Given the description of an element on the screen output the (x, y) to click on. 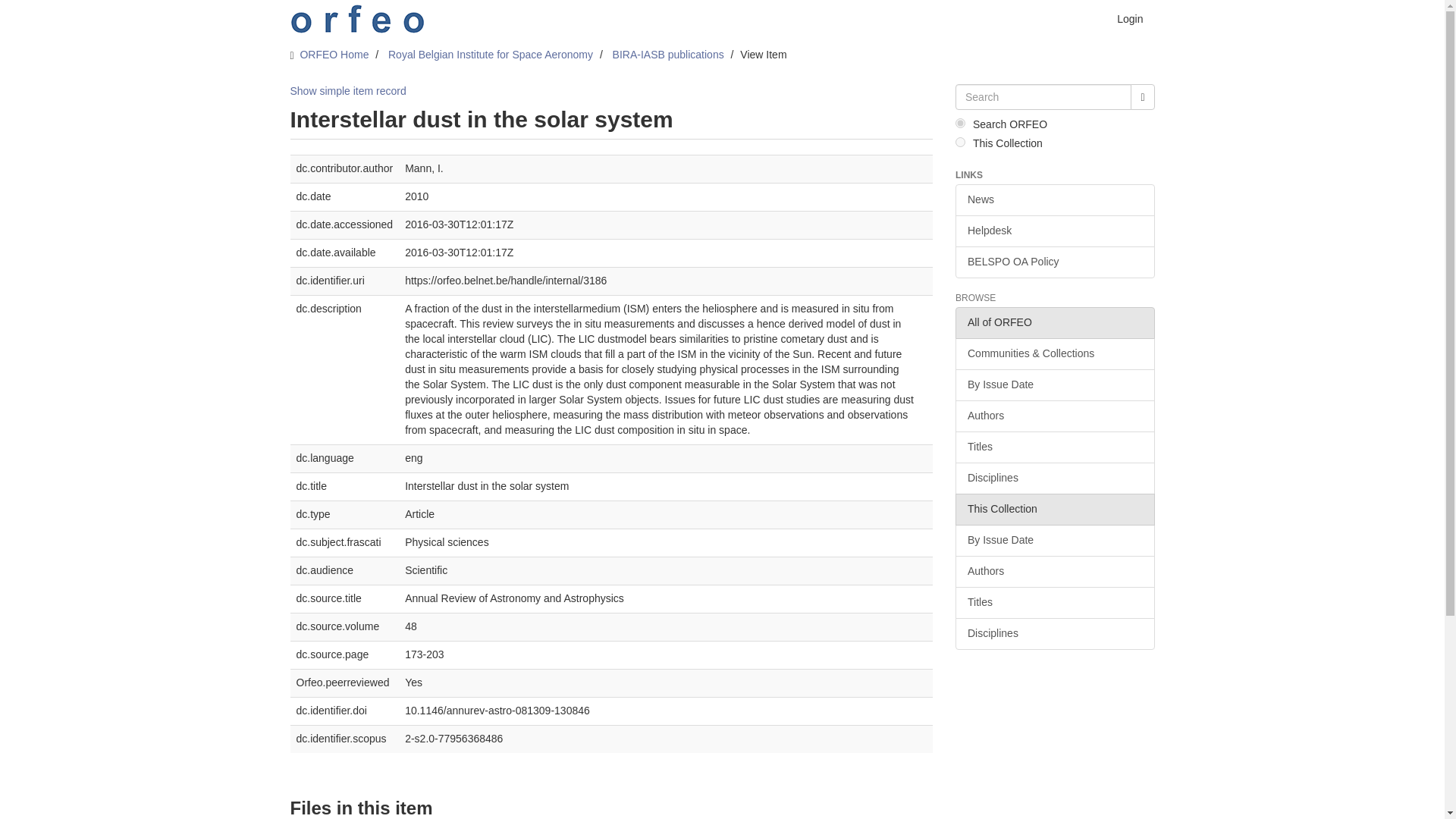
Helpdesk (1054, 231)
Disciplines (1054, 478)
Titles (1054, 603)
BELSPO OA Policy (1054, 262)
Titles (1054, 447)
Show simple item record (347, 91)
Authors (1054, 572)
By Issue Date (1054, 385)
Disciplines (1054, 634)
Go (1142, 96)
ORFEO Home (333, 54)
All of ORFEO (1054, 323)
Authors (1054, 416)
BIRA-IASB publications (667, 54)
By Issue Date (1054, 540)
